Given the description of an element on the screen output the (x, y) to click on. 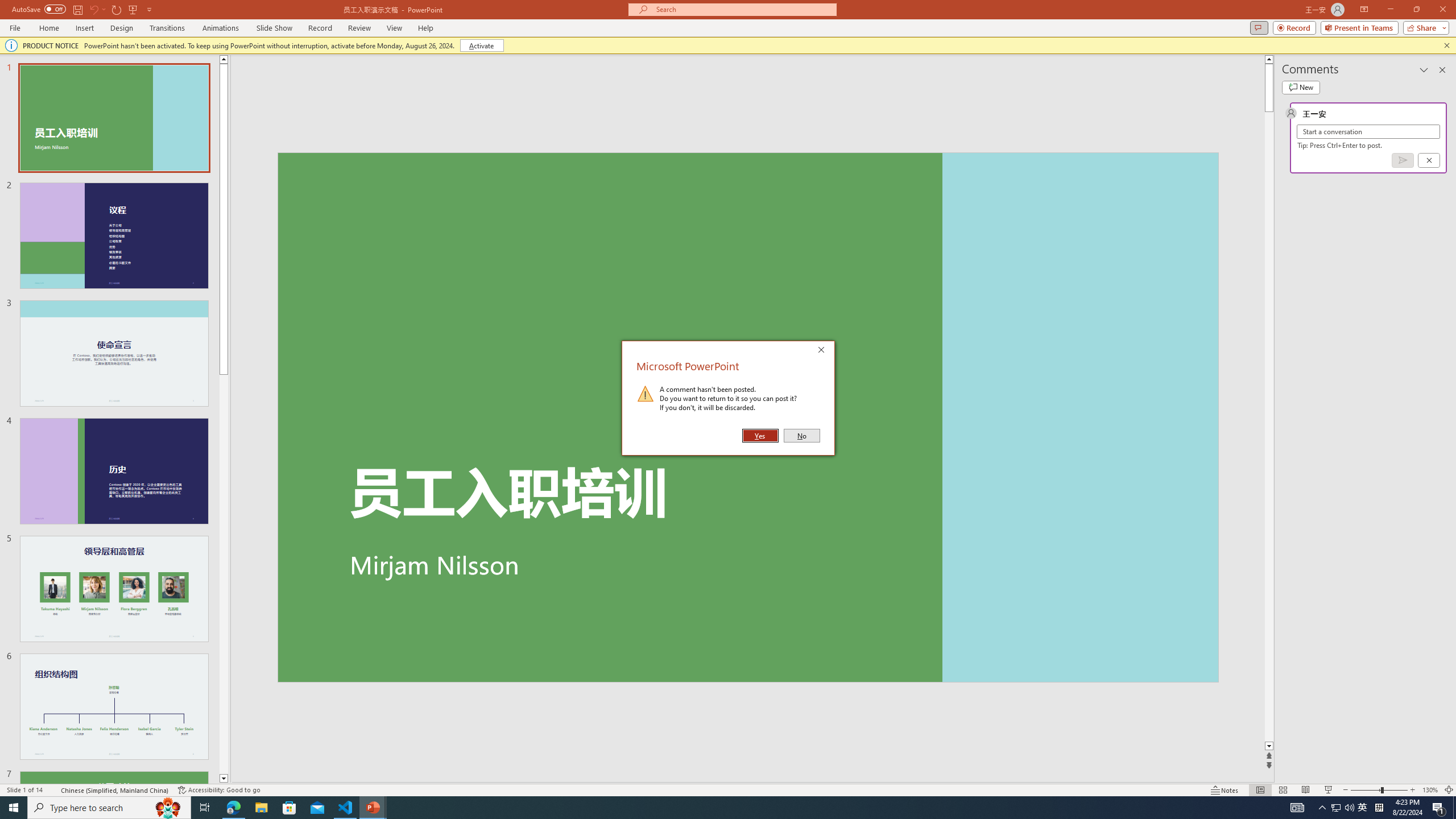
Yes (760, 435)
Post comment (Ctrl + Enter) (1402, 160)
